Given the description of an element on the screen output the (x, y) to click on. 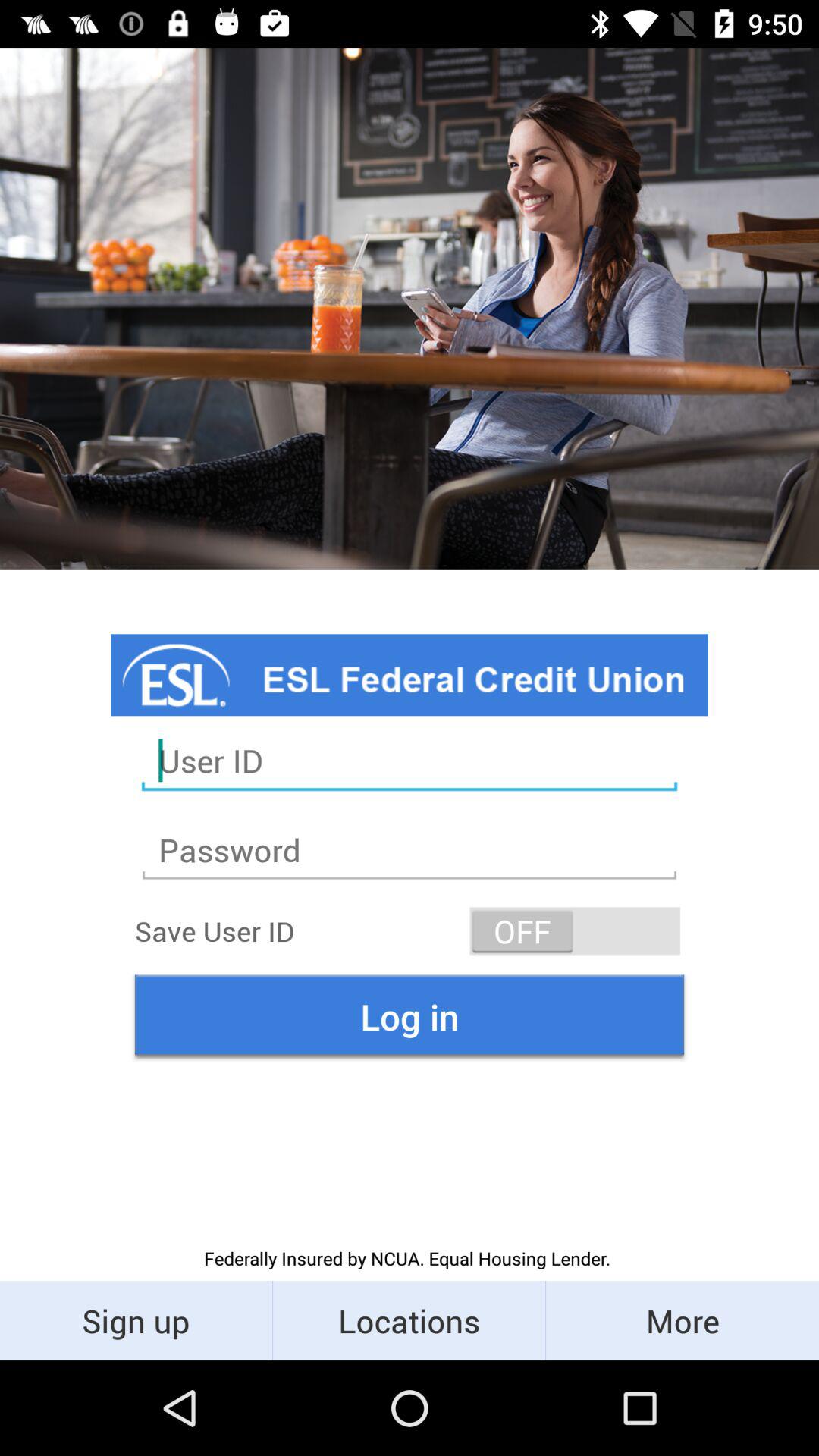
scroll to sign up icon (136, 1320)
